Given the description of an element on the screen output the (x, y) to click on. 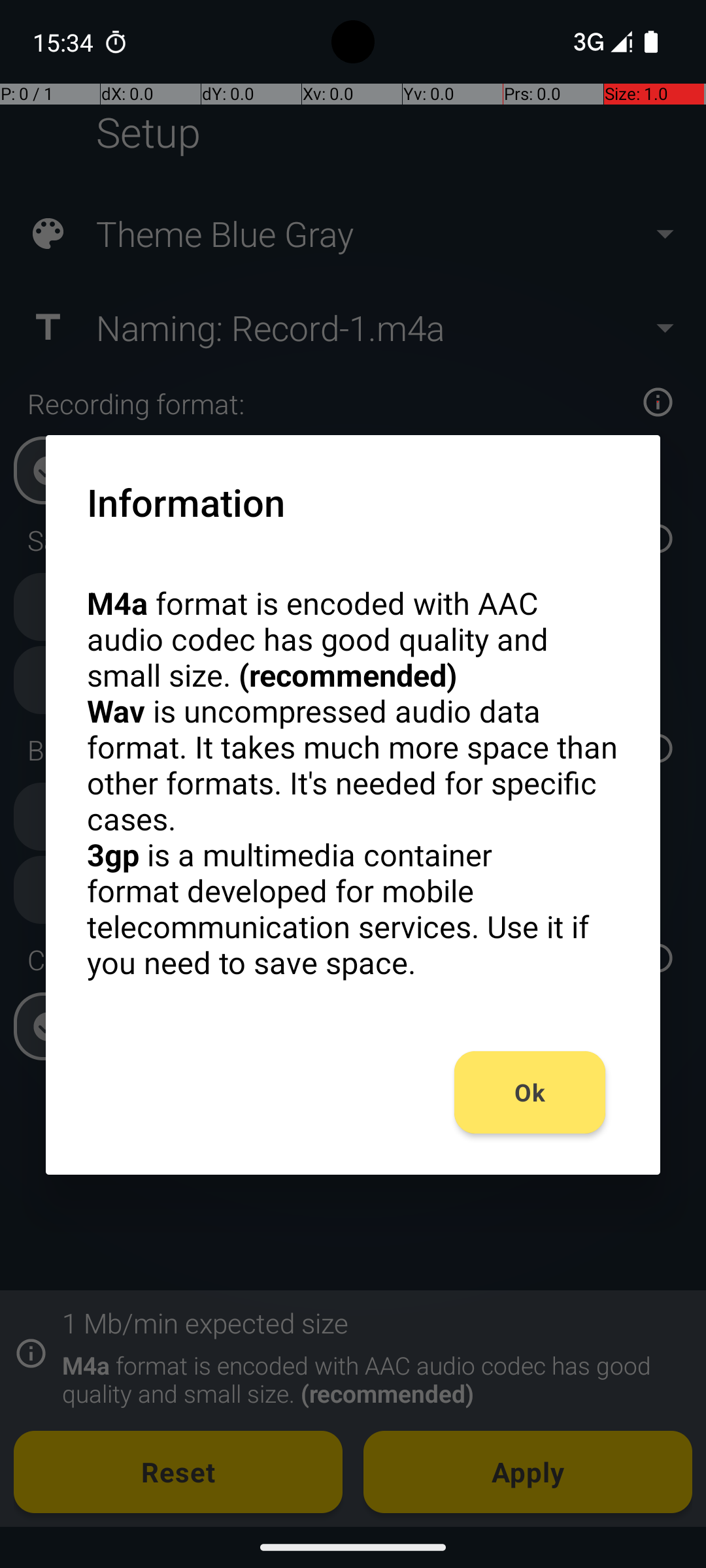
M4a format is encoded with AAC audio codec has good quality and small size. (recommended) 
Wav is uncompressed audio data format. It takes much more space than other formats. It's needed for specific cases. 
3gp is a multimedia container format developed for mobile telecommunication services. Use it if you need to save space.  Element type: android.widget.TextView (352, 782)
